Given the description of an element on the screen output the (x, y) to click on. 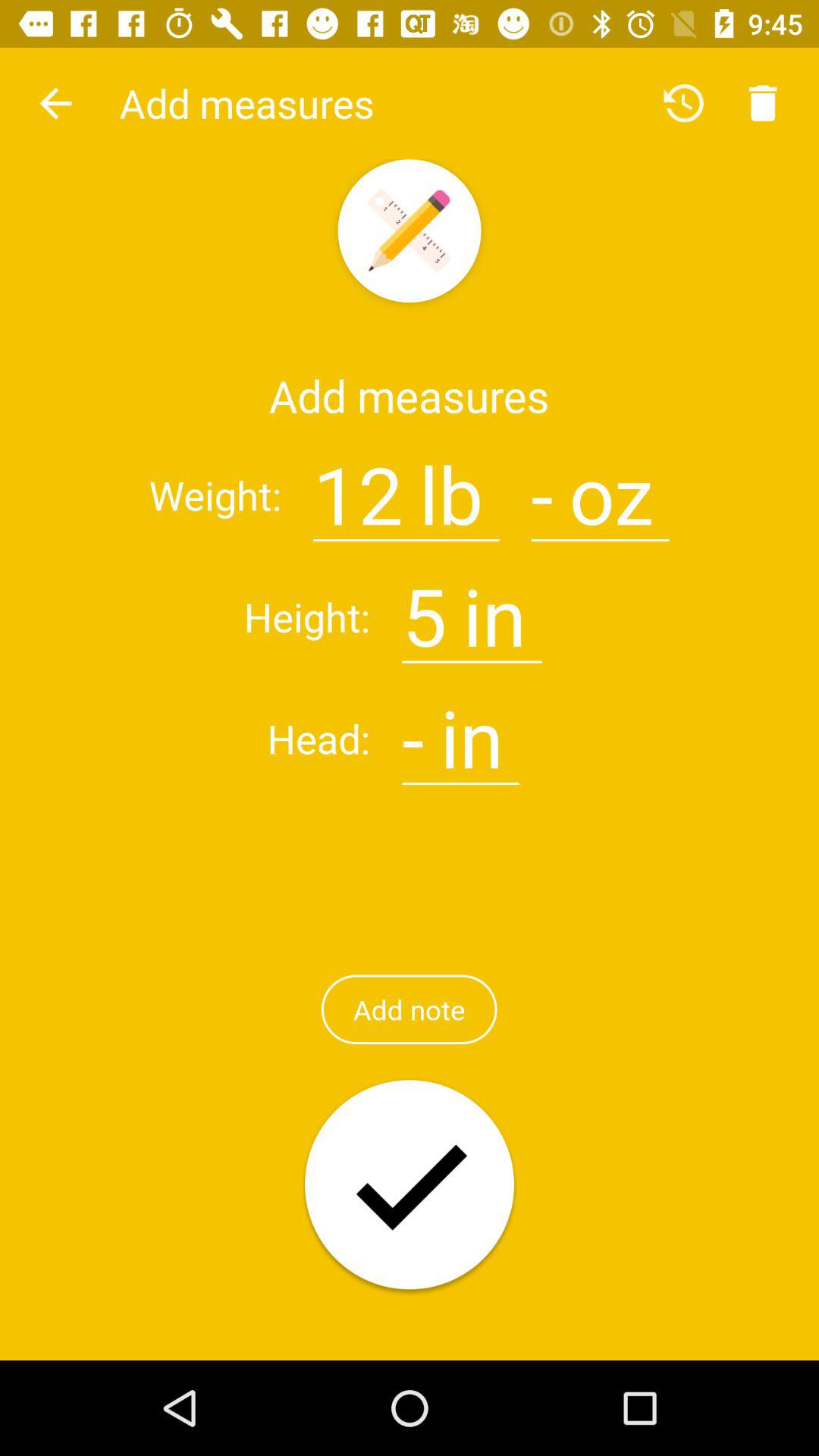
turn on icon next to the add measures (55, 103)
